Given the description of an element on the screen output the (x, y) to click on. 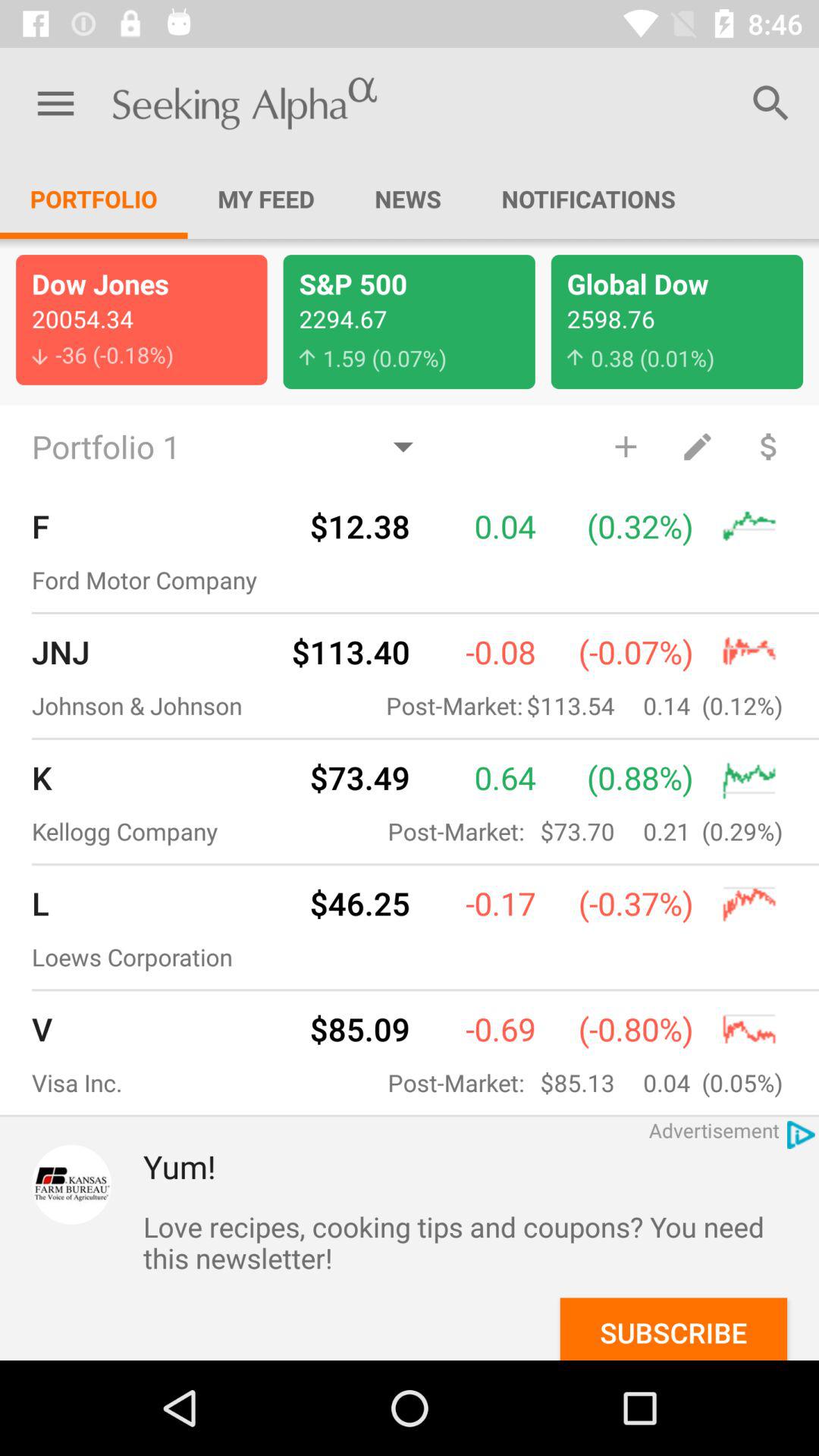
turn on the item to the right of portfolio 1 (625, 446)
